Given the description of an element on the screen output the (x, y) to click on. 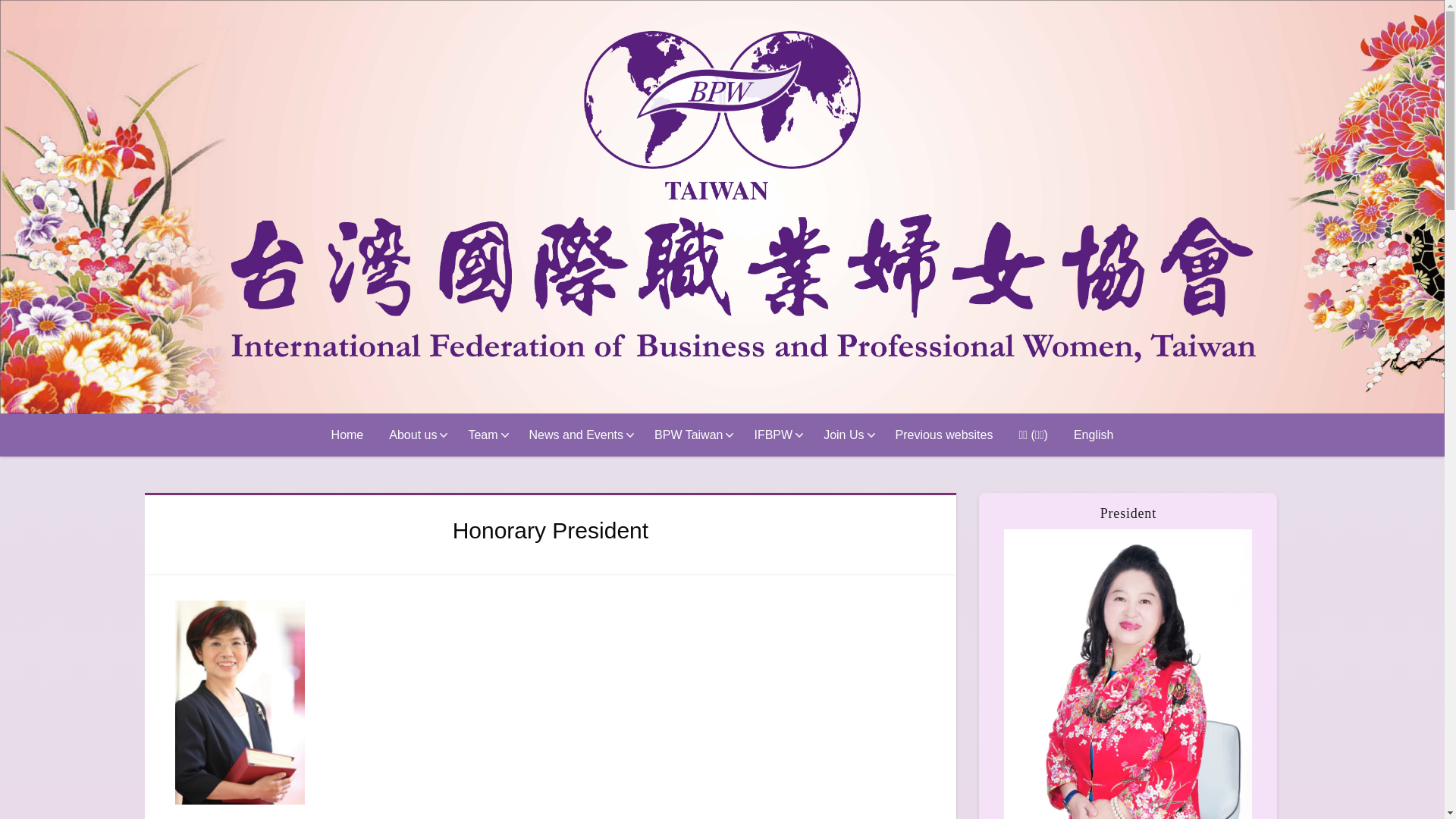
Join Us Element type: text (845, 435)
News and Events Element type: text (579, 435)
English Element type: text (1093, 435)
About us Element type: text (415, 435)
Home Element type: text (347, 435)
Team Element type: text (485, 435)
Previous websites Element type: text (944, 435)
BPW Taiwan Element type: text (690, 435)
IFBPW Element type: text (775, 435)
